Given the description of an element on the screen output the (x, y) to click on. 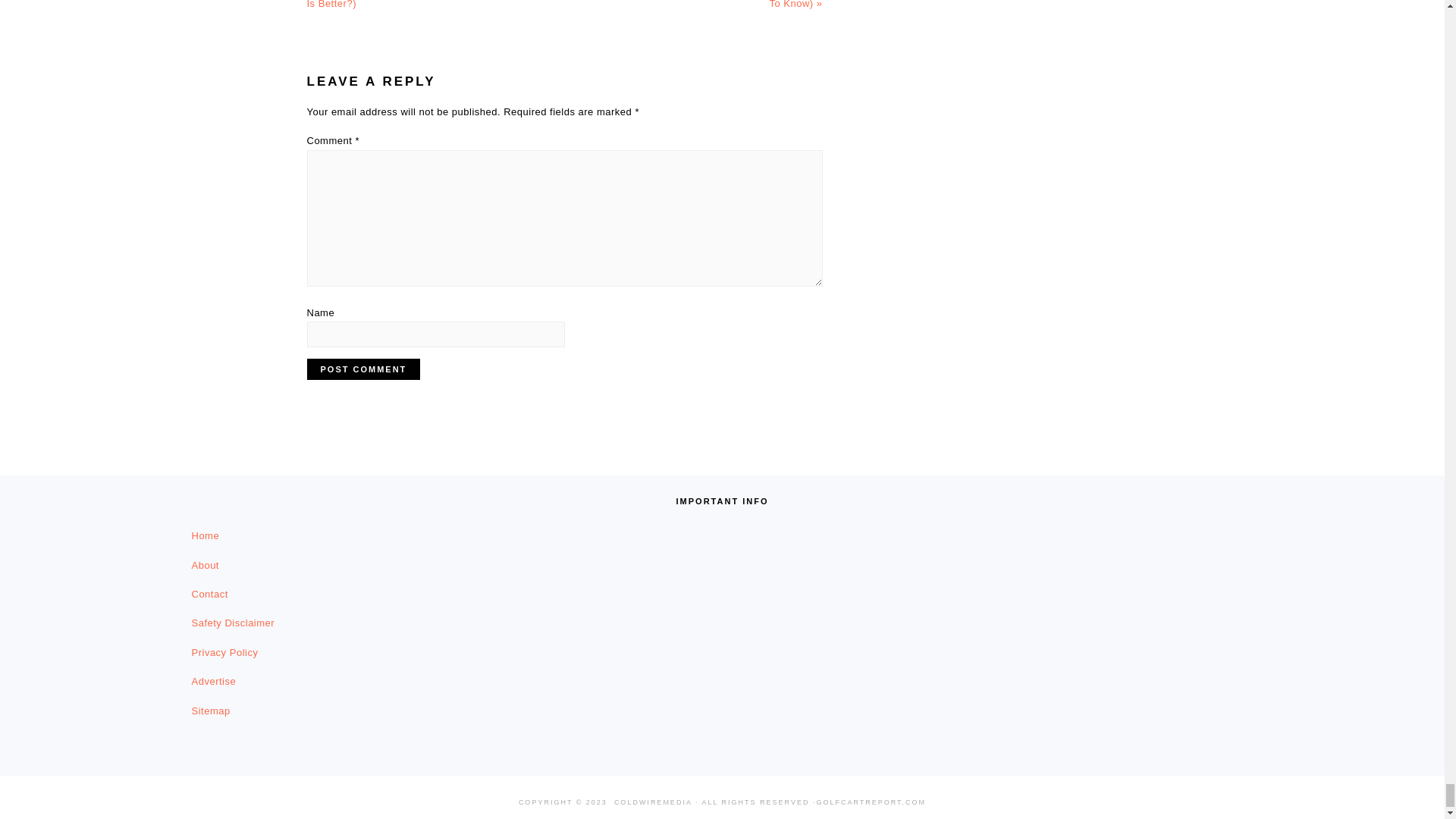
Advertise (212, 681)
Privacy Policy (223, 652)
Post Comment (362, 369)
Home (204, 535)
About (204, 564)
Post Comment (362, 369)
COLDWIREMEDIA (653, 801)
Contact (208, 593)
Sitemap (210, 710)
Safety Disclaimer (232, 622)
